Given the description of an element on the screen output the (x, y) to click on. 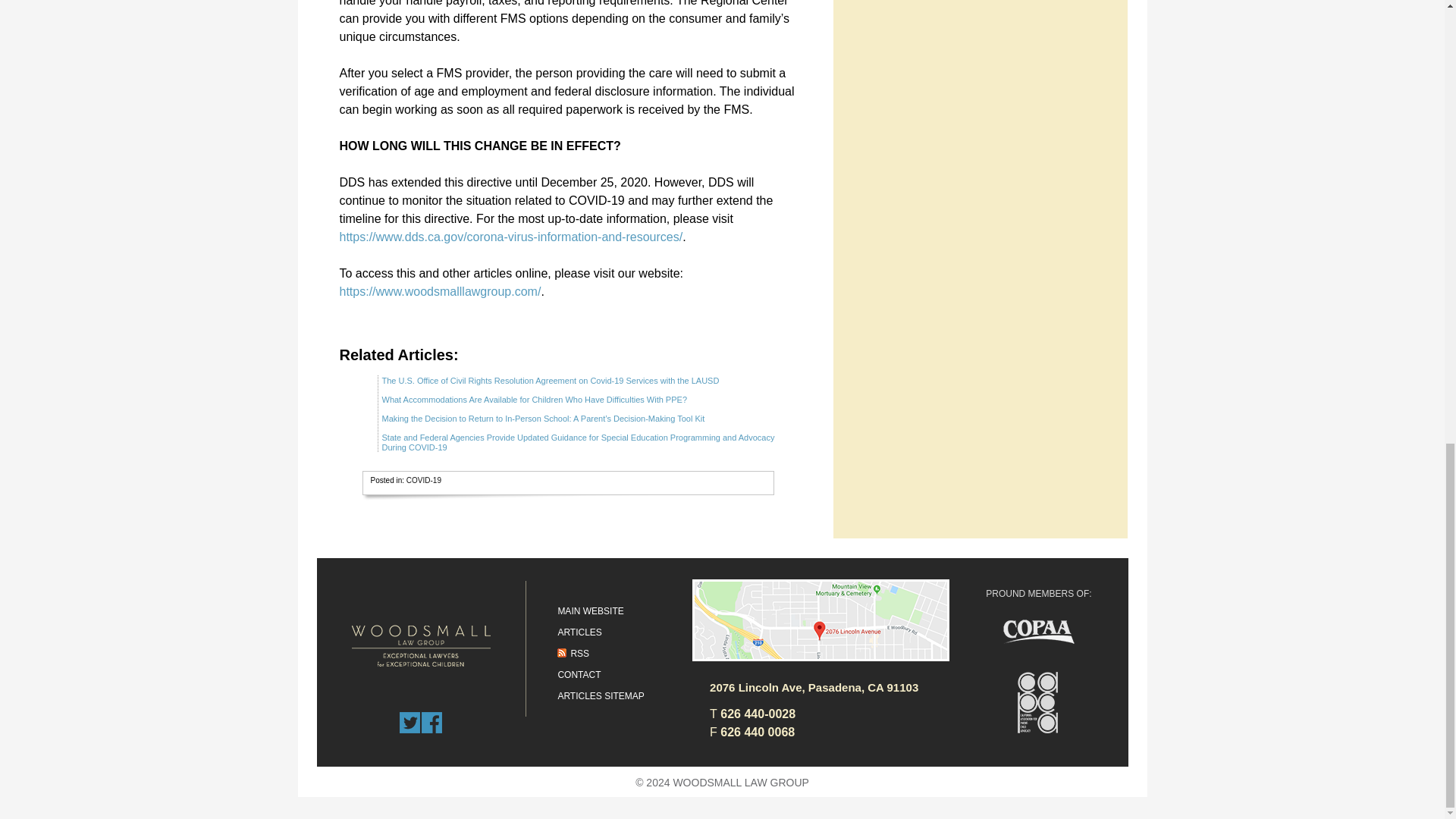
COVID-19 (423, 479)
RSS (573, 653)
MAIN WEBSITE (590, 611)
ARTICLES SITEMAP (600, 696)
ARTICLES (579, 632)
Follow us on Facebook (432, 722)
CONTACT (578, 674)
Follow us on Twitter (409, 722)
2076 Lincoln Ave, Pasadena, CA 91103 (805, 686)
